Given the description of an element on the screen output the (x, y) to click on. 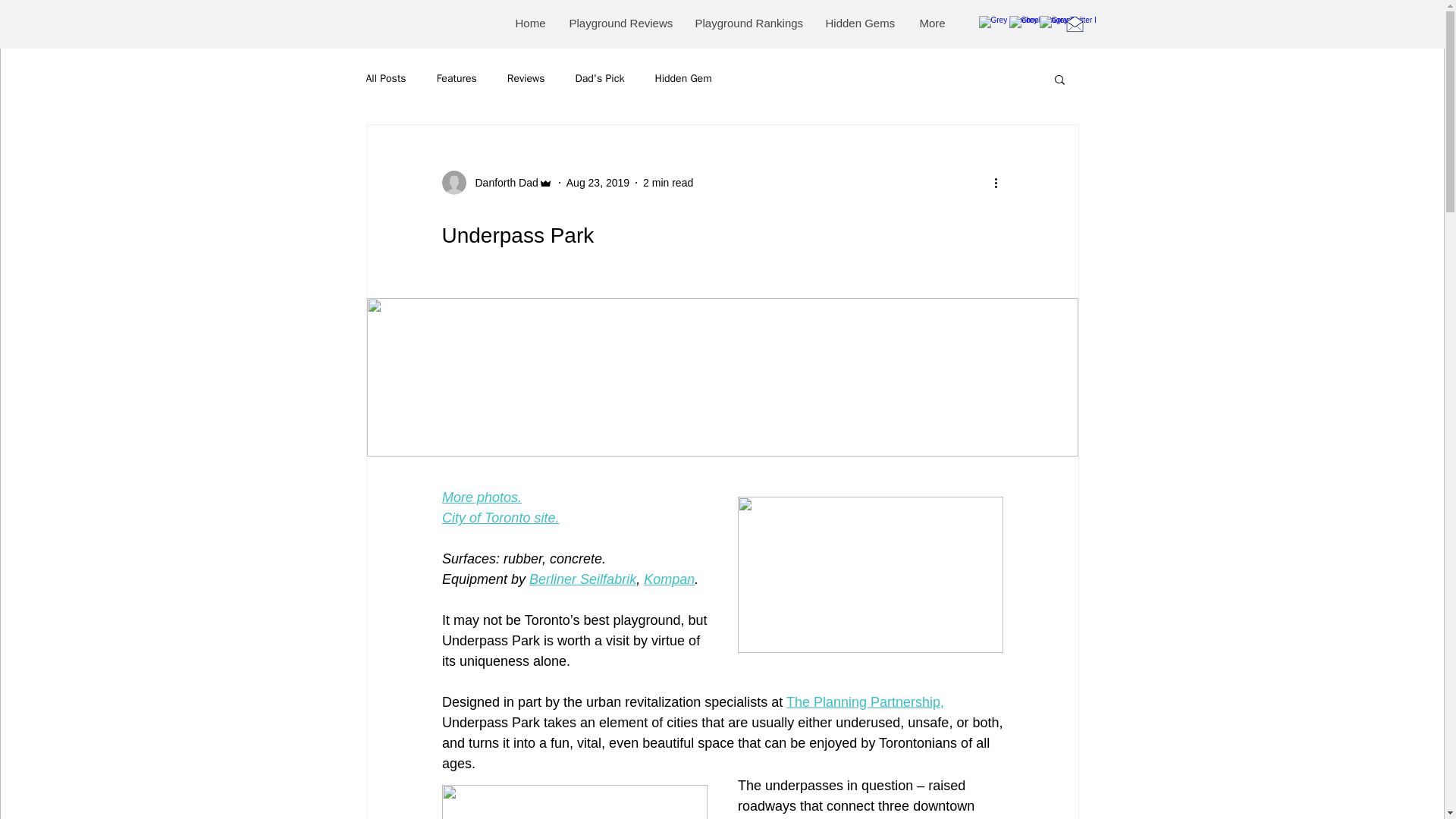
Aug 23, 2019 (597, 182)
Features (456, 78)
2 min read (668, 182)
Berliner Seilfabrik (582, 579)
Home (529, 22)
Danforth Dad (496, 182)
Playground Rankings (747, 22)
More photos. (481, 497)
Hidden Gem (682, 78)
Kompan (668, 579)
City of Toronto site. (499, 517)
Danforth Dad (501, 182)
Playground Reviews (619, 22)
Hidden Gems (859, 22)
Reviews (525, 78)
